Given the description of an element on the screen output the (x, y) to click on. 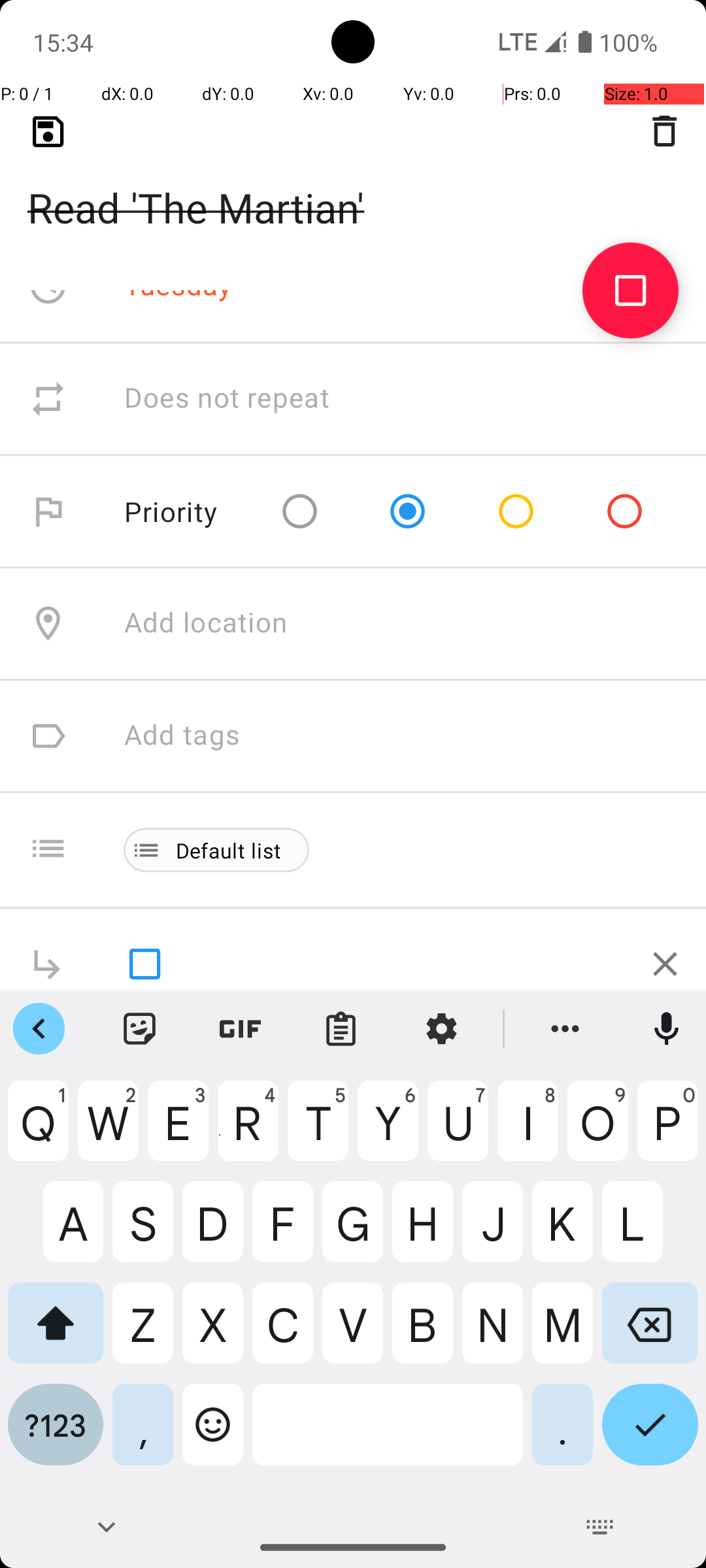
Monday, October 2 Element type: android.widget.TextView (245, 173)
